Given the description of an element on the screen output the (x, y) to click on. 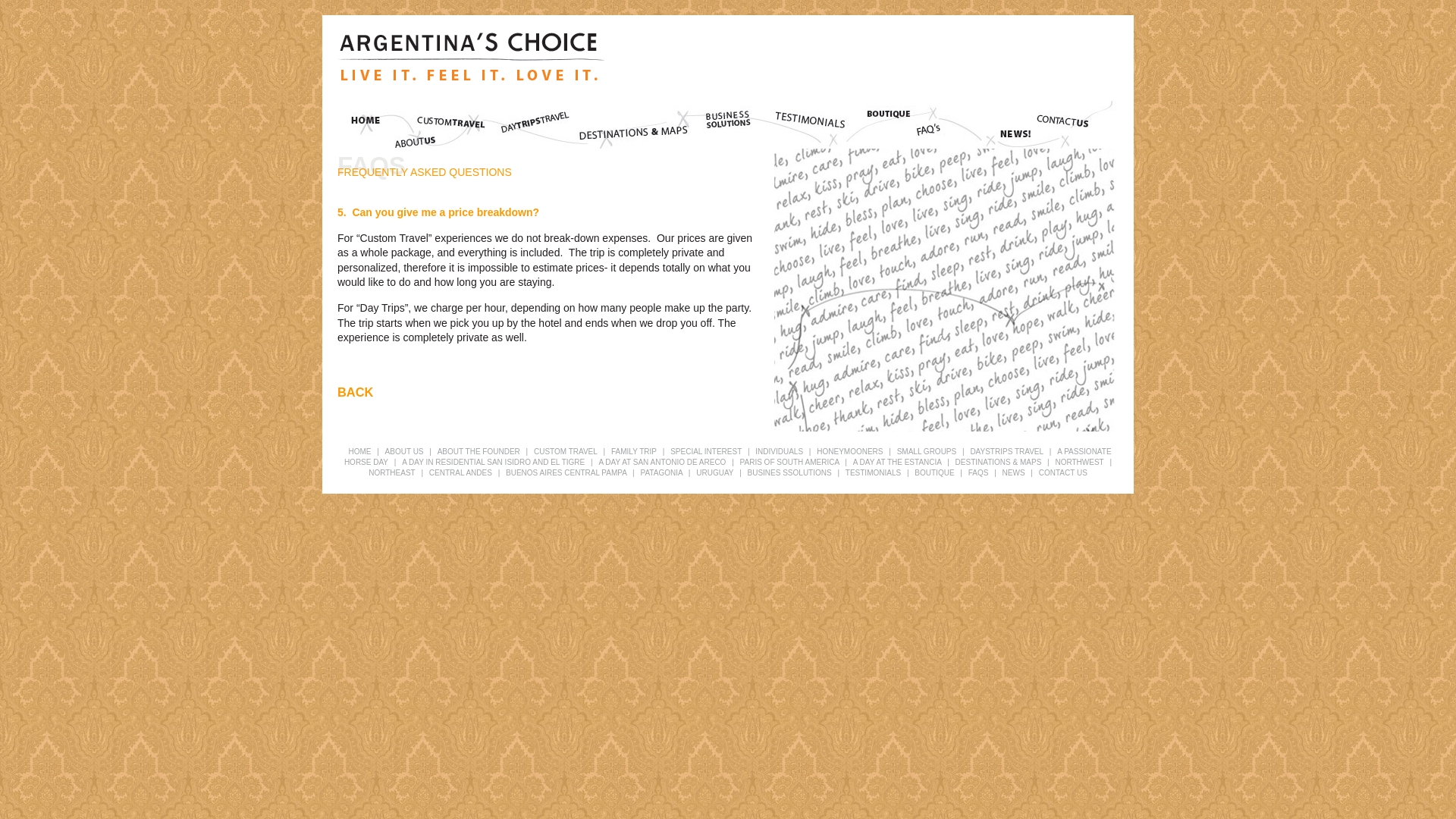
Argentina's Choice (470, 57)
BACK (354, 391)
HOME (358, 451)
